Given the description of an element on the screen output the (x, y) to click on. 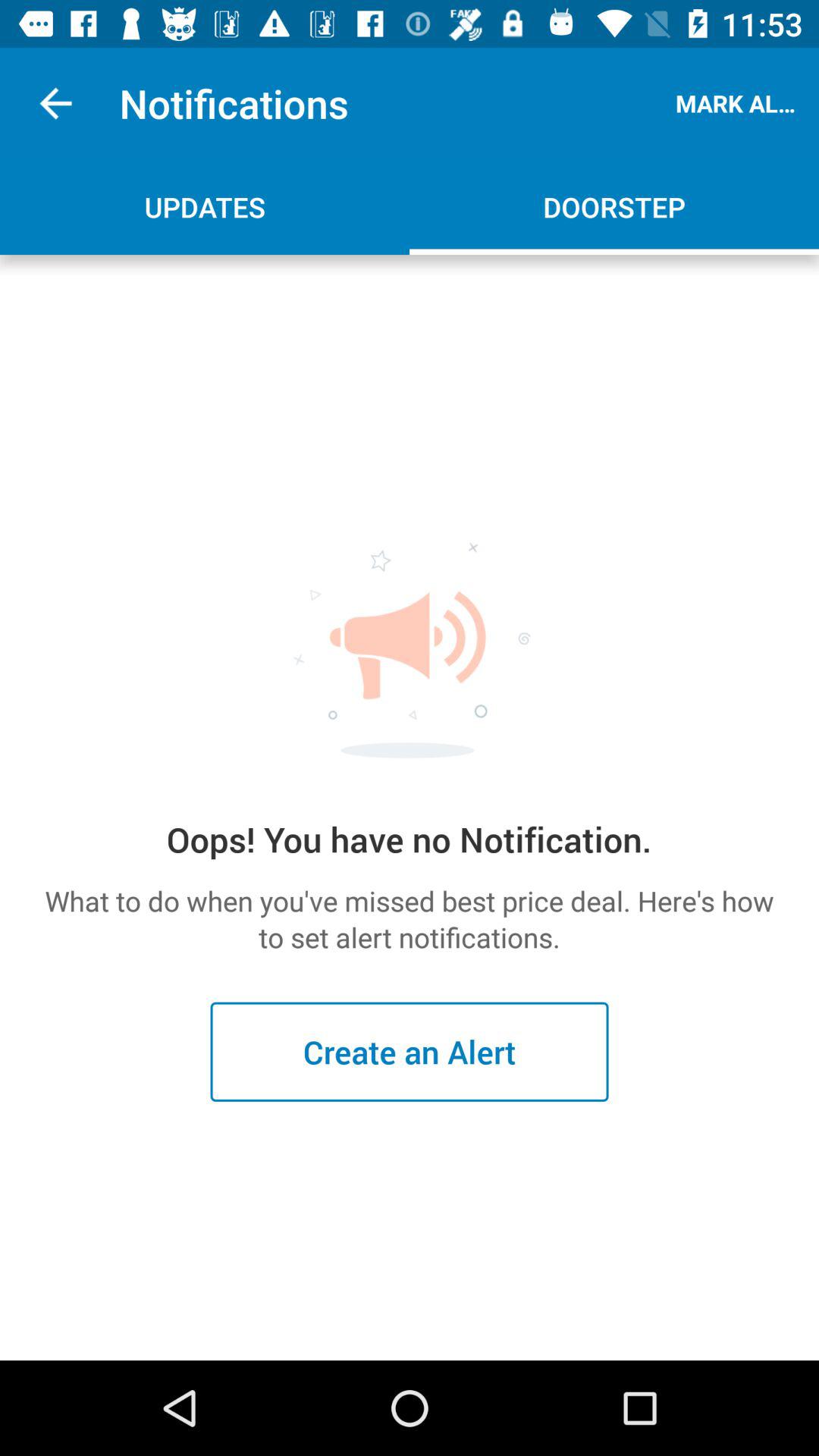
click the icon next to the updates item (614, 206)
